Given the description of an element on the screen output the (x, y) to click on. 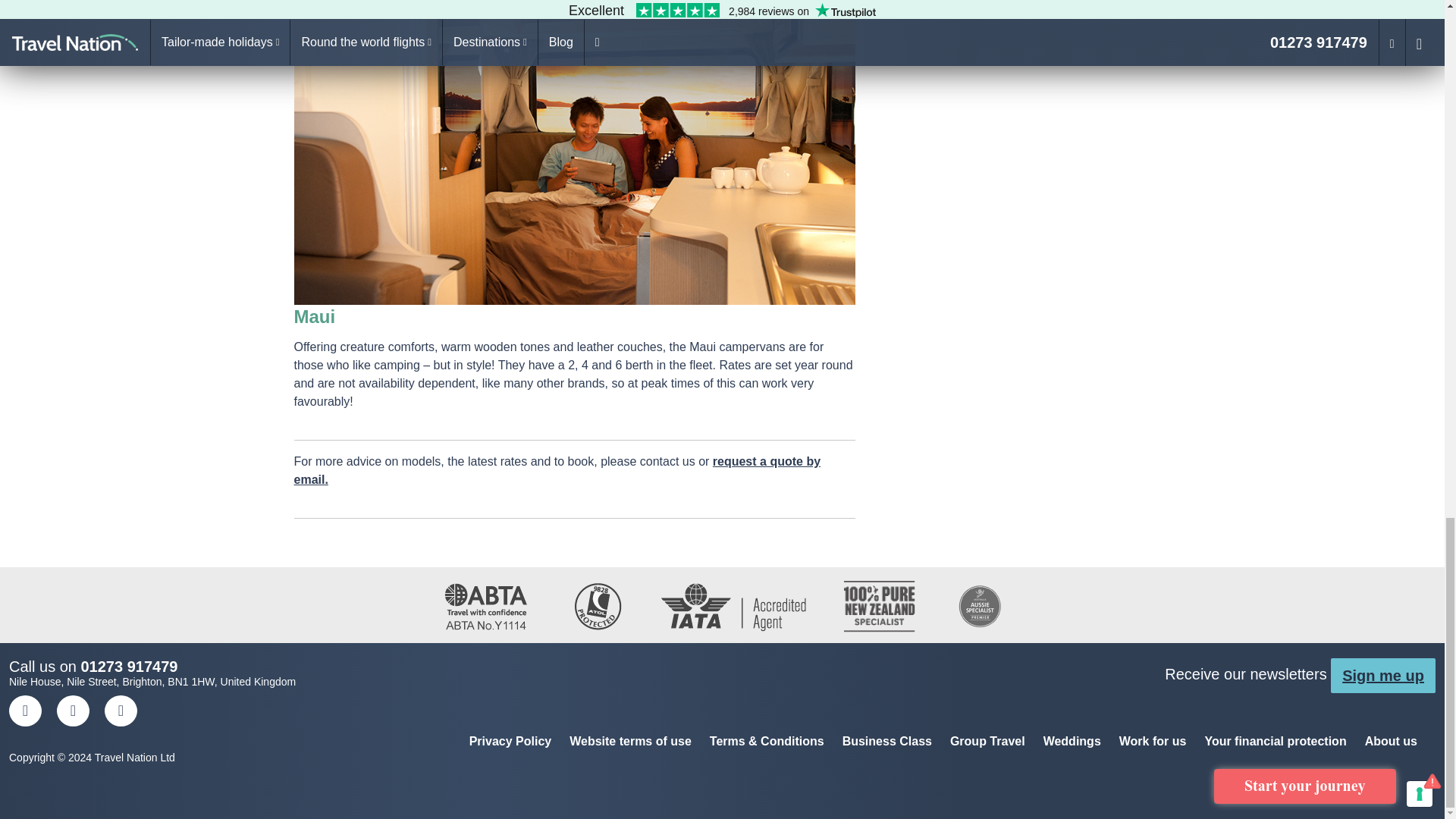
Travel Nation is ABTA-bonded, ATOL Certified (722, 603)
Travel Nation is ABTA-bonded, ATOL Certified (722, 604)
